Given the description of an element on the screen output the (x, y) to click on. 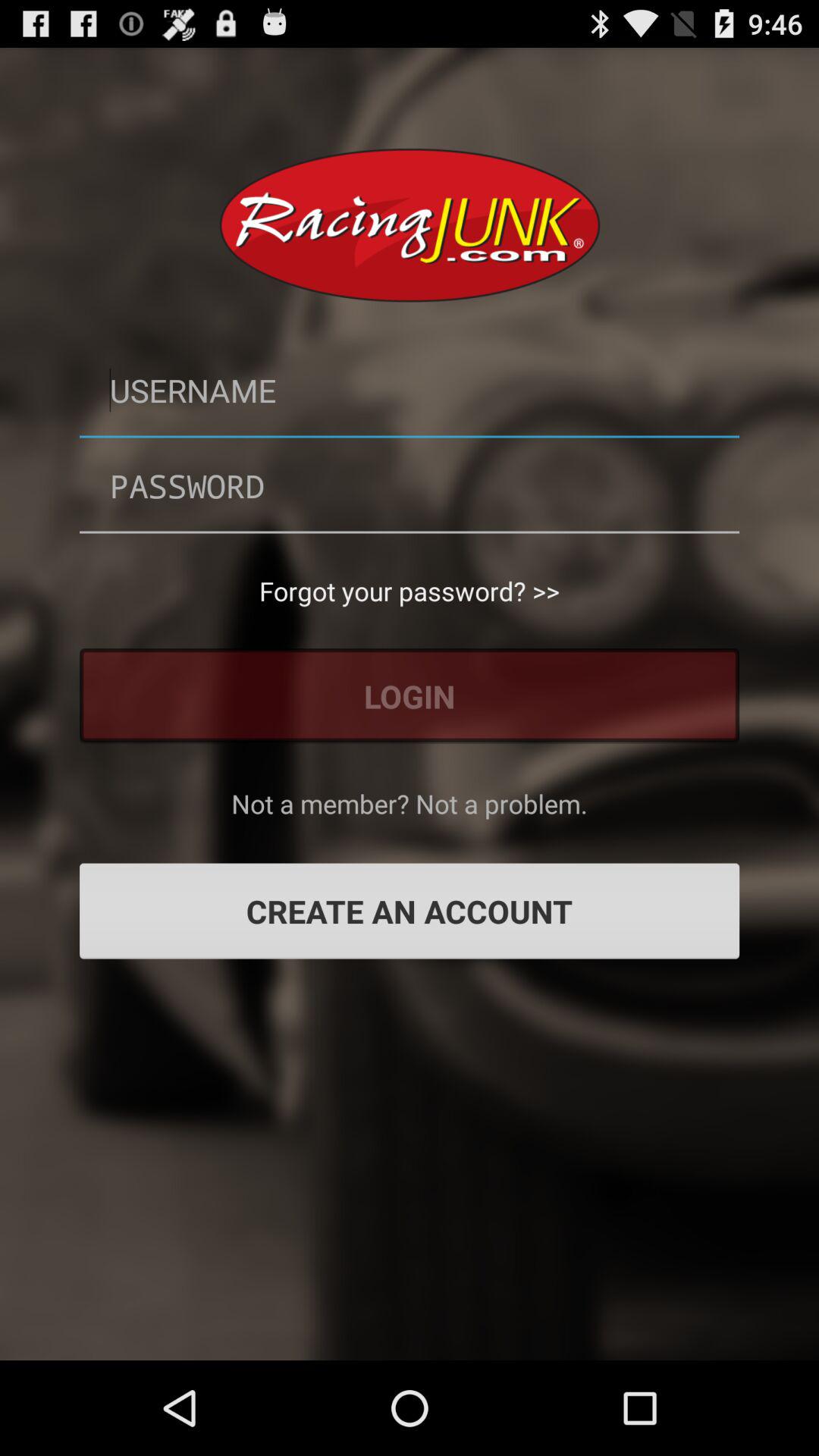
enter password (409, 485)
